Given the description of an element on the screen output the (x, y) to click on. 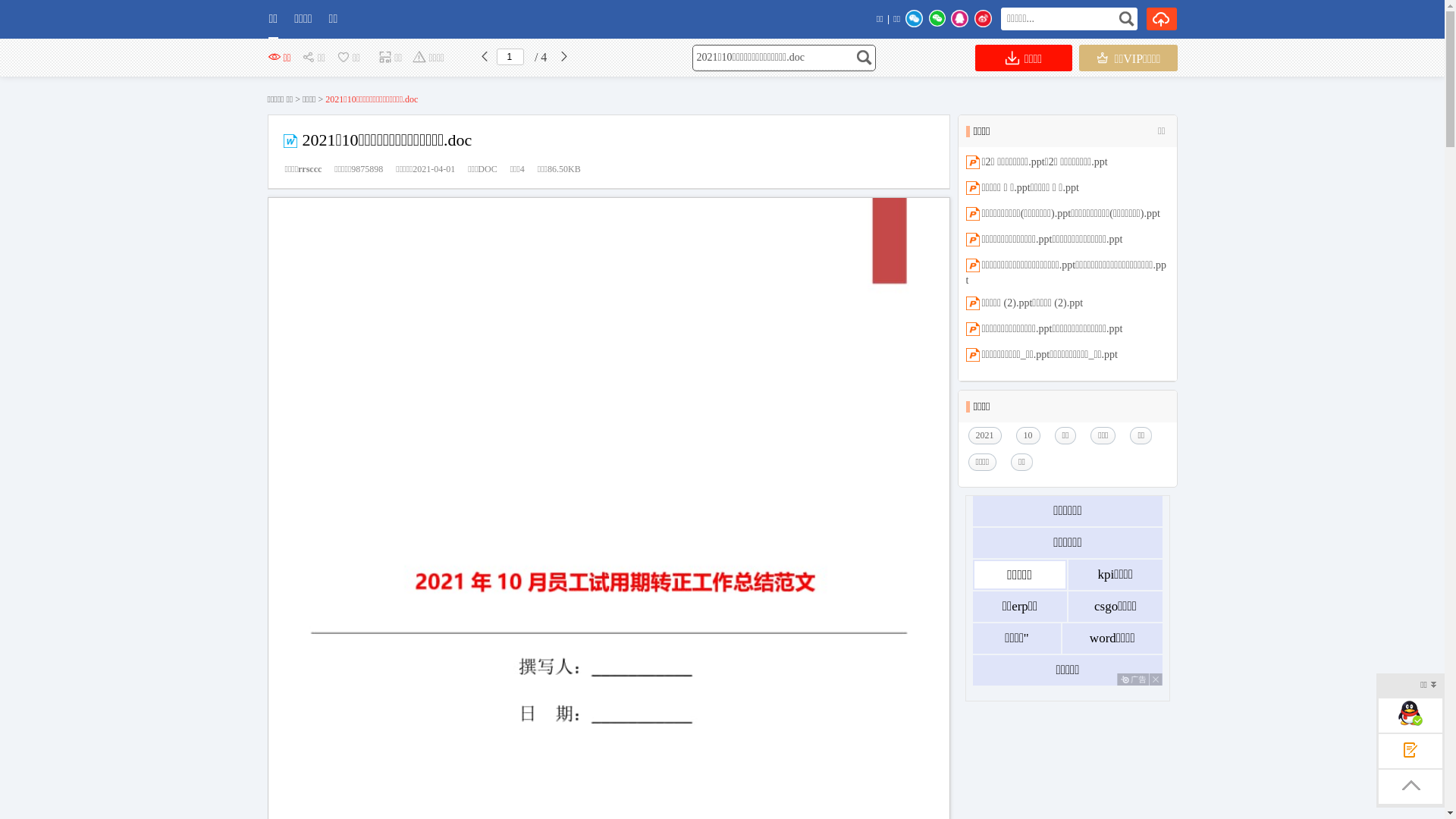
2021 Element type: text (987, 435)
10 Element type: text (1032, 435)
